Given the description of an element on the screen output the (x, y) to click on. 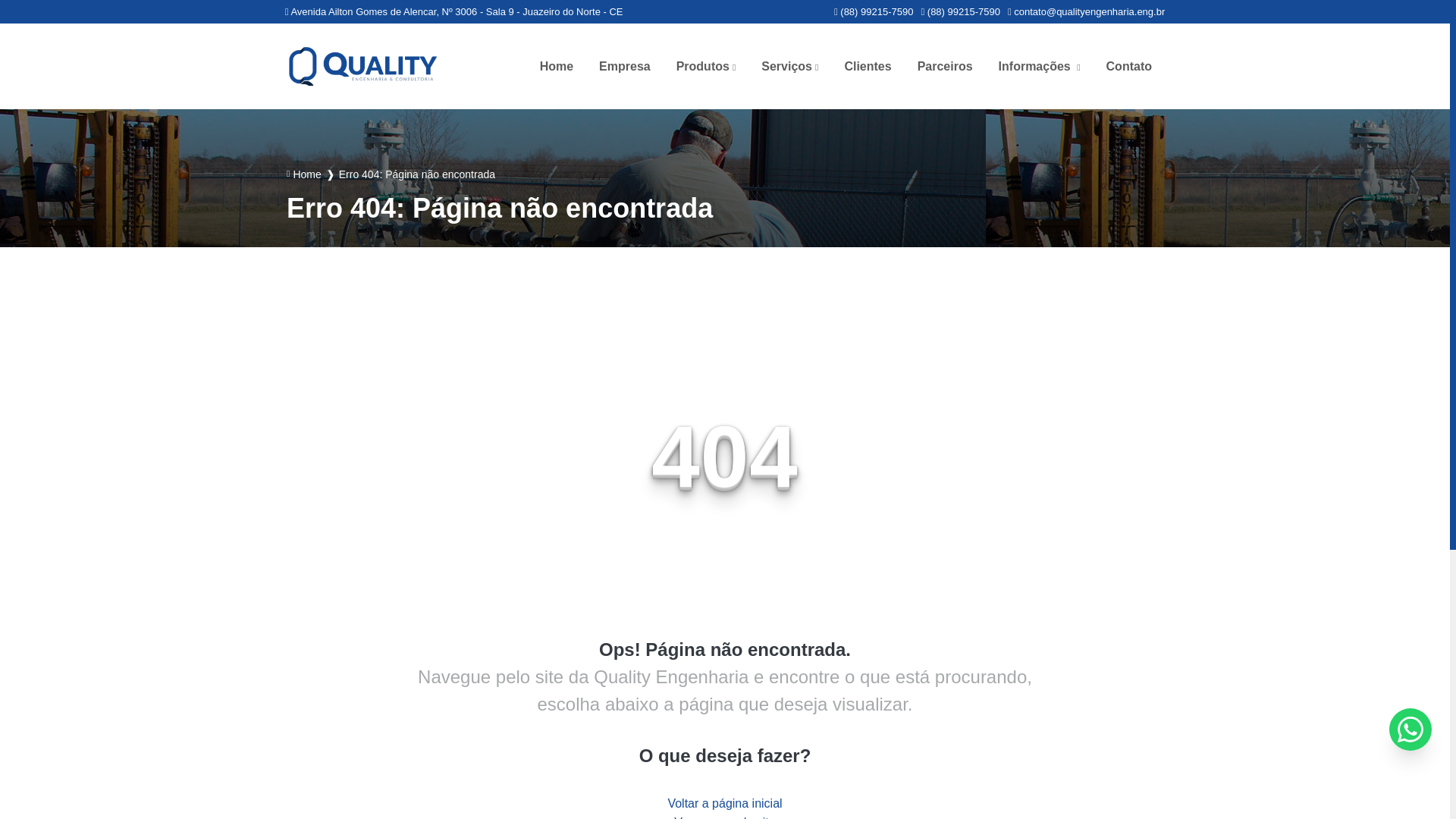
Home (556, 66)
Produtos (706, 66)
Home (556, 66)
Clientes (867, 66)
Envie um e-mail (1085, 11)
Empresa (625, 66)
Whatsapp Quality Engenharia (960, 11)
Clique e ligue (874, 11)
Parceiros (944, 66)
Empresa (625, 66)
Produtos (706, 66)
